Given the description of an element on the screen output the (x, y) to click on. 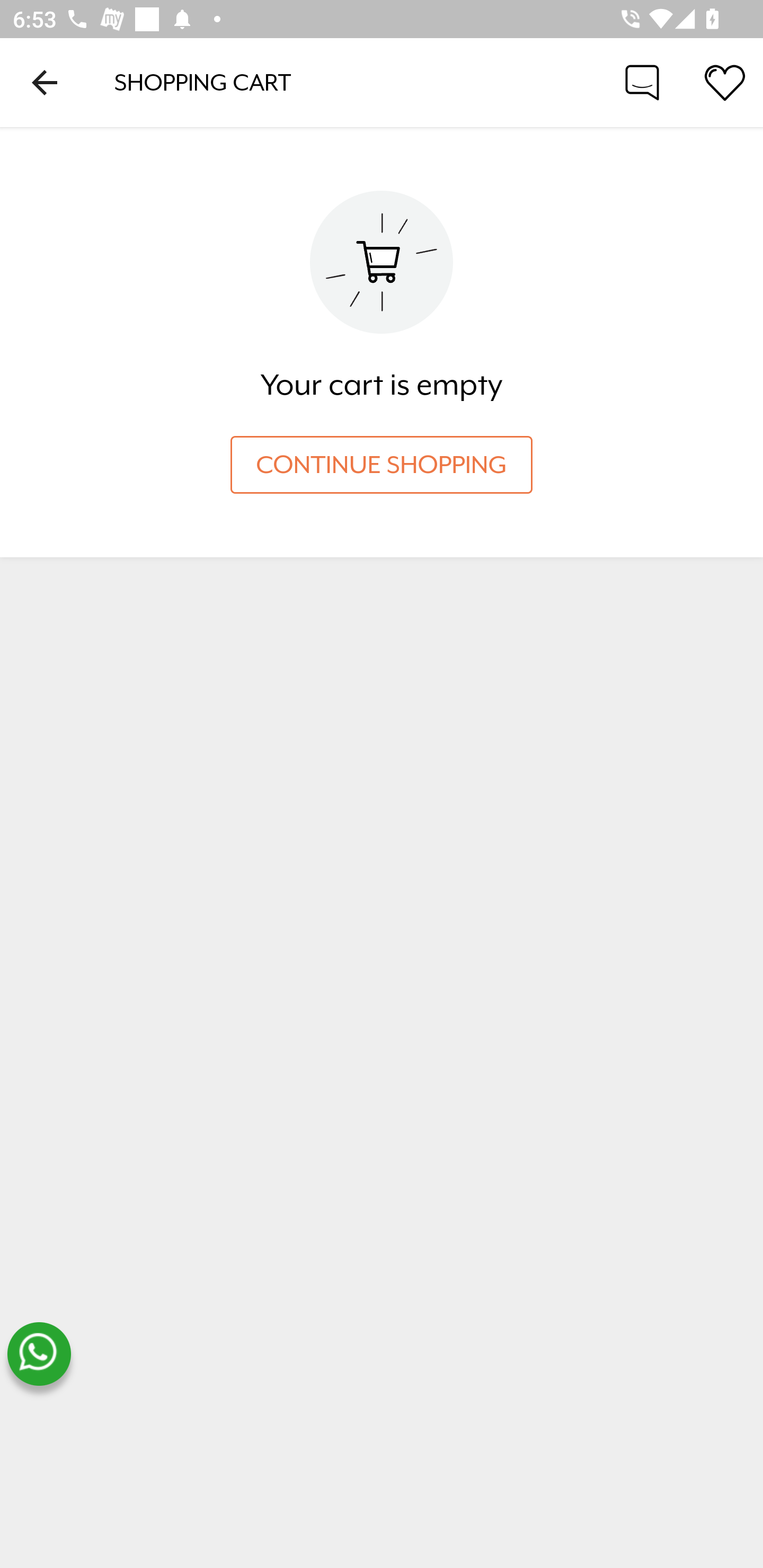
Navigate up (44, 82)
Chat (641, 81)
Wishlist (724, 81)
CONTINUE SHOPPING (381, 464)
whatsapp (38, 1353)
